Given the description of an element on the screen output the (x, y) to click on. 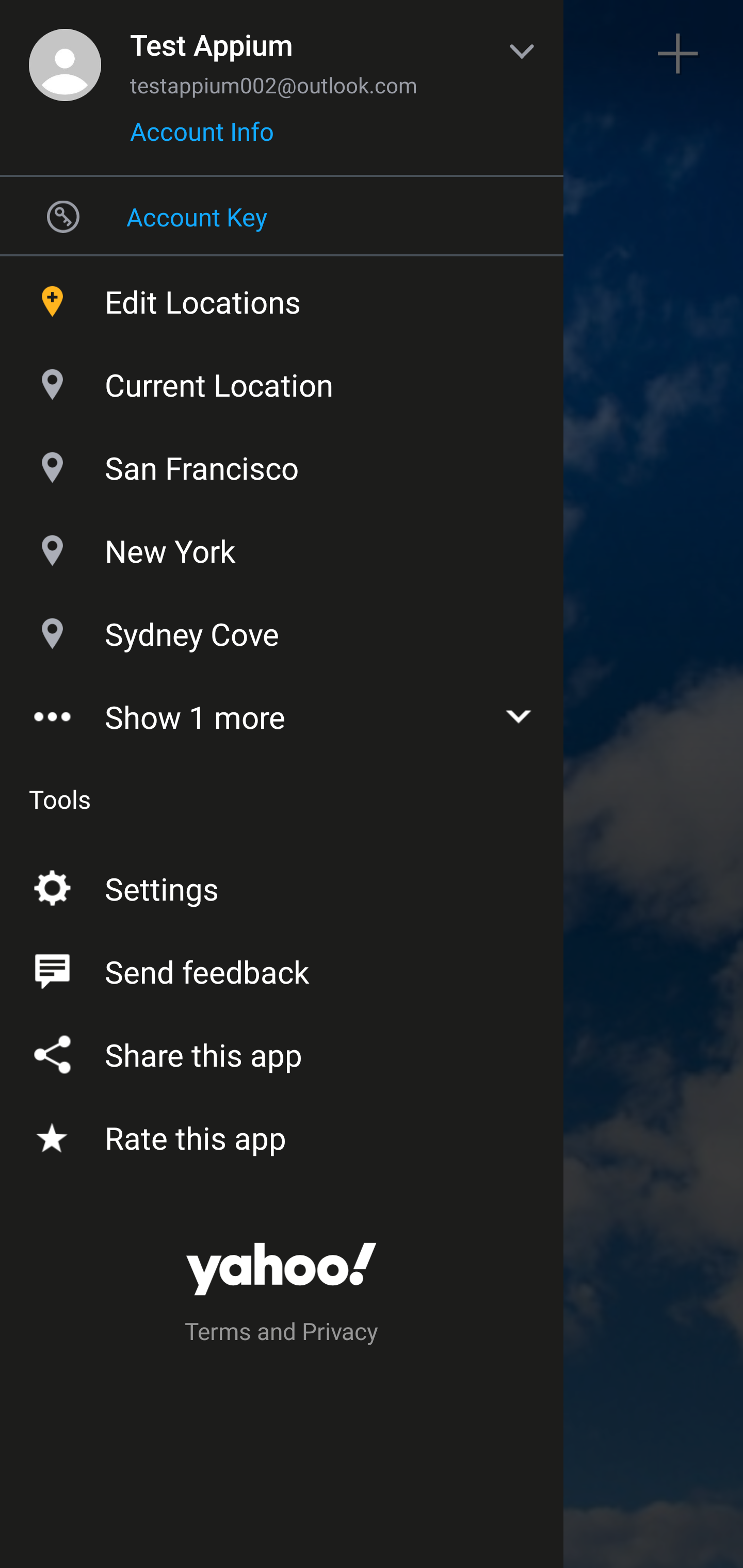
Sidebar (64, 54)
Account Info (202, 137)
Account Key (281, 216)
Edit Locations (281, 296)
Current Location (281, 379)
San Francisco (281, 462)
New York (281, 546)
Sydney Cove (281, 629)
Settings (281, 884)
Send feedback (281, 967)
Share this app (281, 1050)
Terms and Privacy Terms and privacy button (281, 1334)
